Given the description of an element on the screen output the (x, y) to click on. 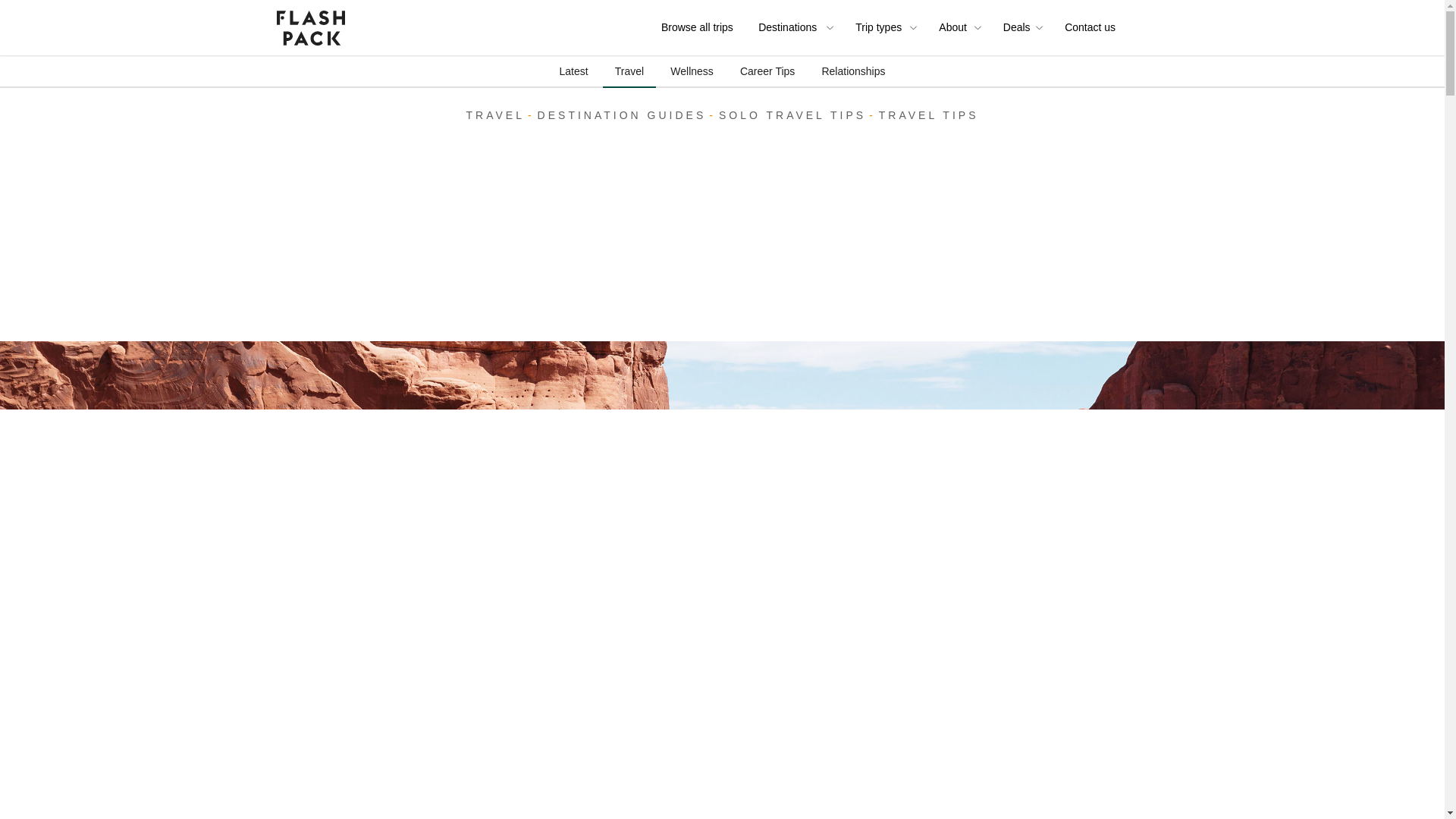
Contact us (1091, 27)
Destinations (797, 27)
Deals (1016, 27)
Trip types (888, 27)
Flash Pack (309, 27)
Destinations (790, 27)
Trip types (880, 27)
Browse all trips (700, 27)
Browse all trips (700, 27)
About (954, 27)
